Given the description of an element on the screen output the (x, y) to click on. 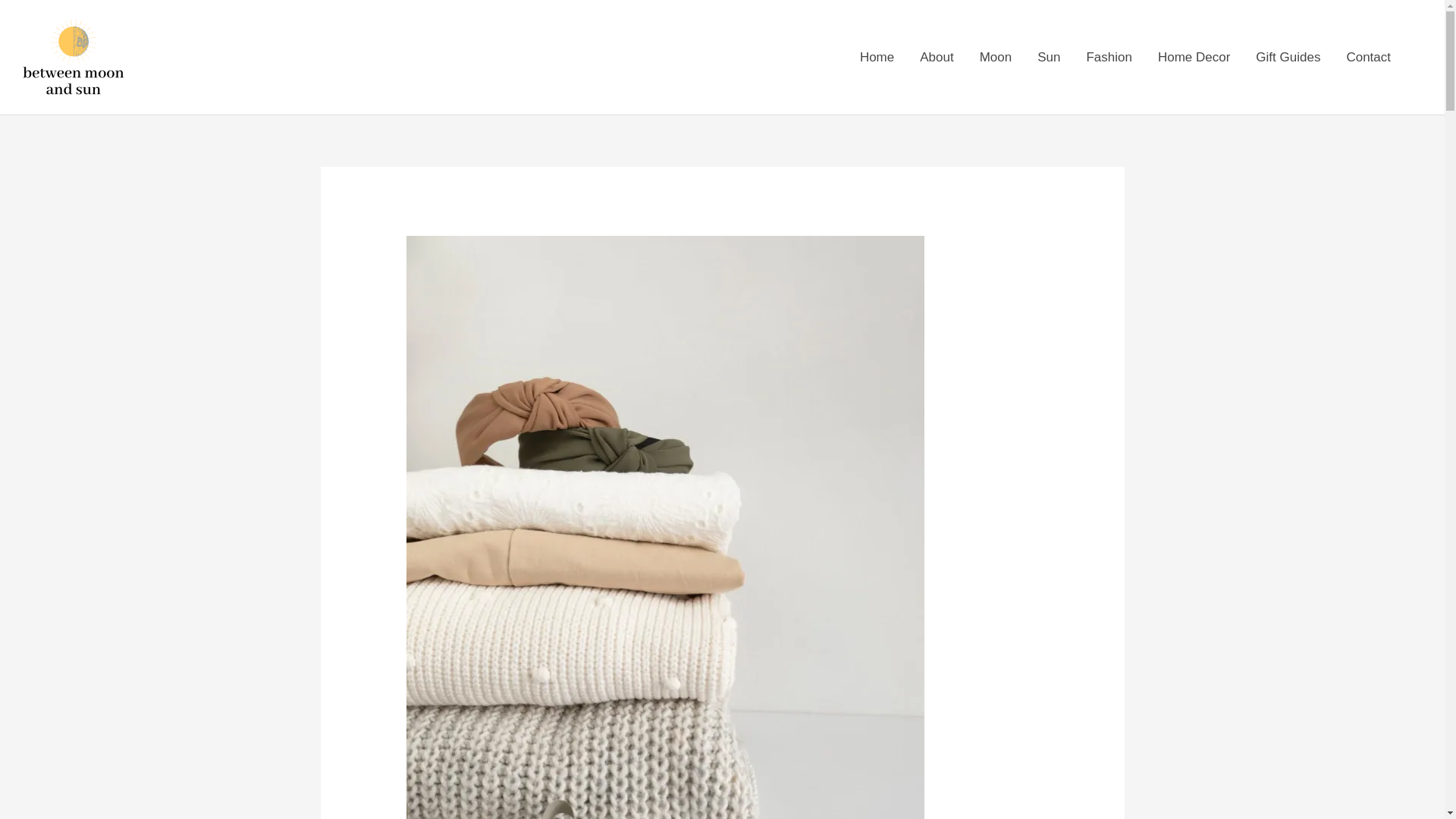
Moon (995, 57)
Home (877, 57)
Home Decor (1193, 57)
About (936, 57)
Sun (1049, 57)
Fashion (1108, 57)
Contact (1368, 57)
Gift Guides (1288, 57)
